Given the description of an element on the screen output the (x, y) to click on. 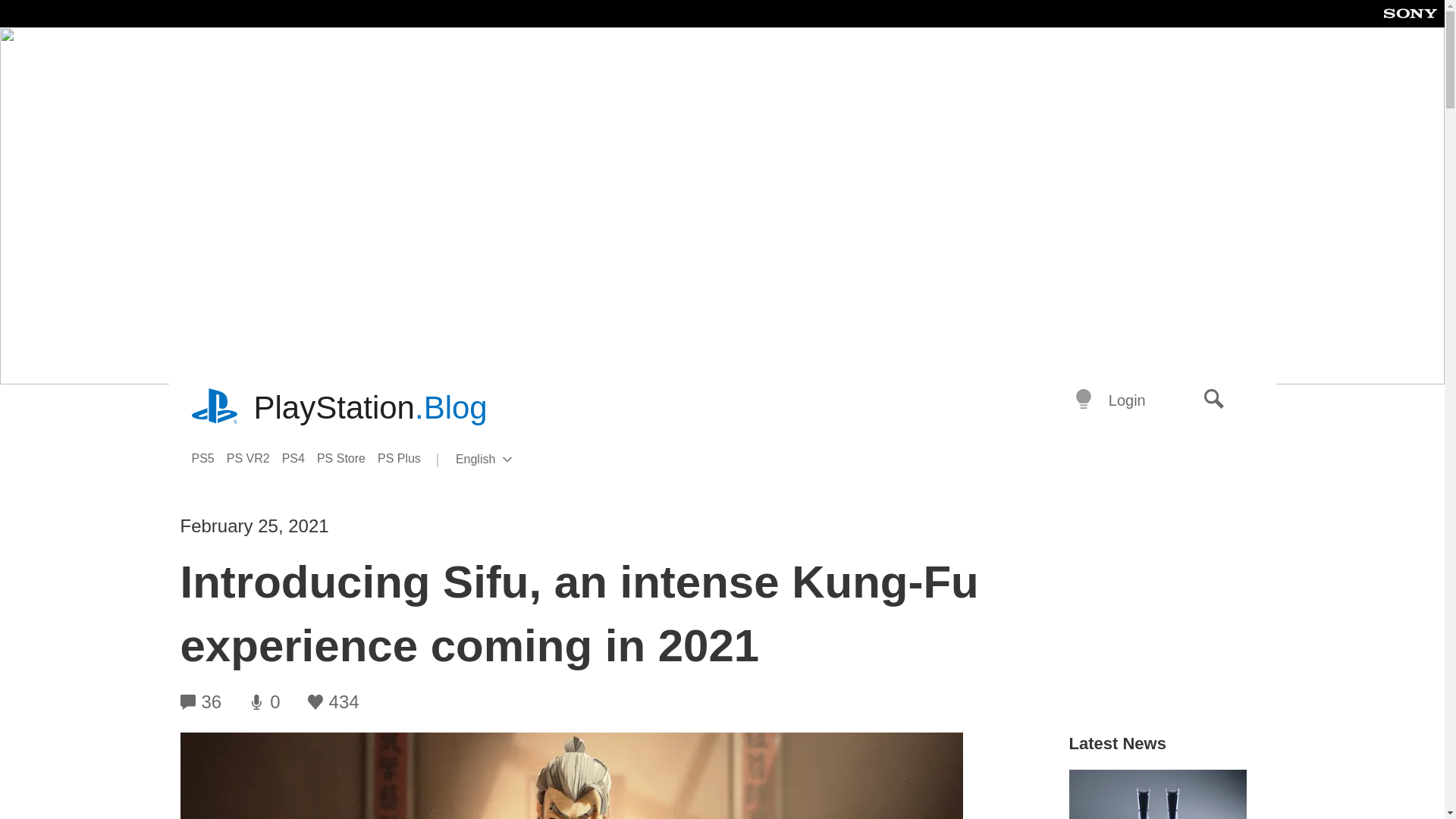
PS Plus (404, 458)
Search (1214, 400)
PS5 (207, 458)
PS Store (508, 459)
playstation.com (347, 458)
PS4 (215, 408)
PS VR2 (299, 458)
Login (254, 458)
PlayStation.Blog (1126, 400)
